Given the description of an element on the screen output the (x, y) to click on. 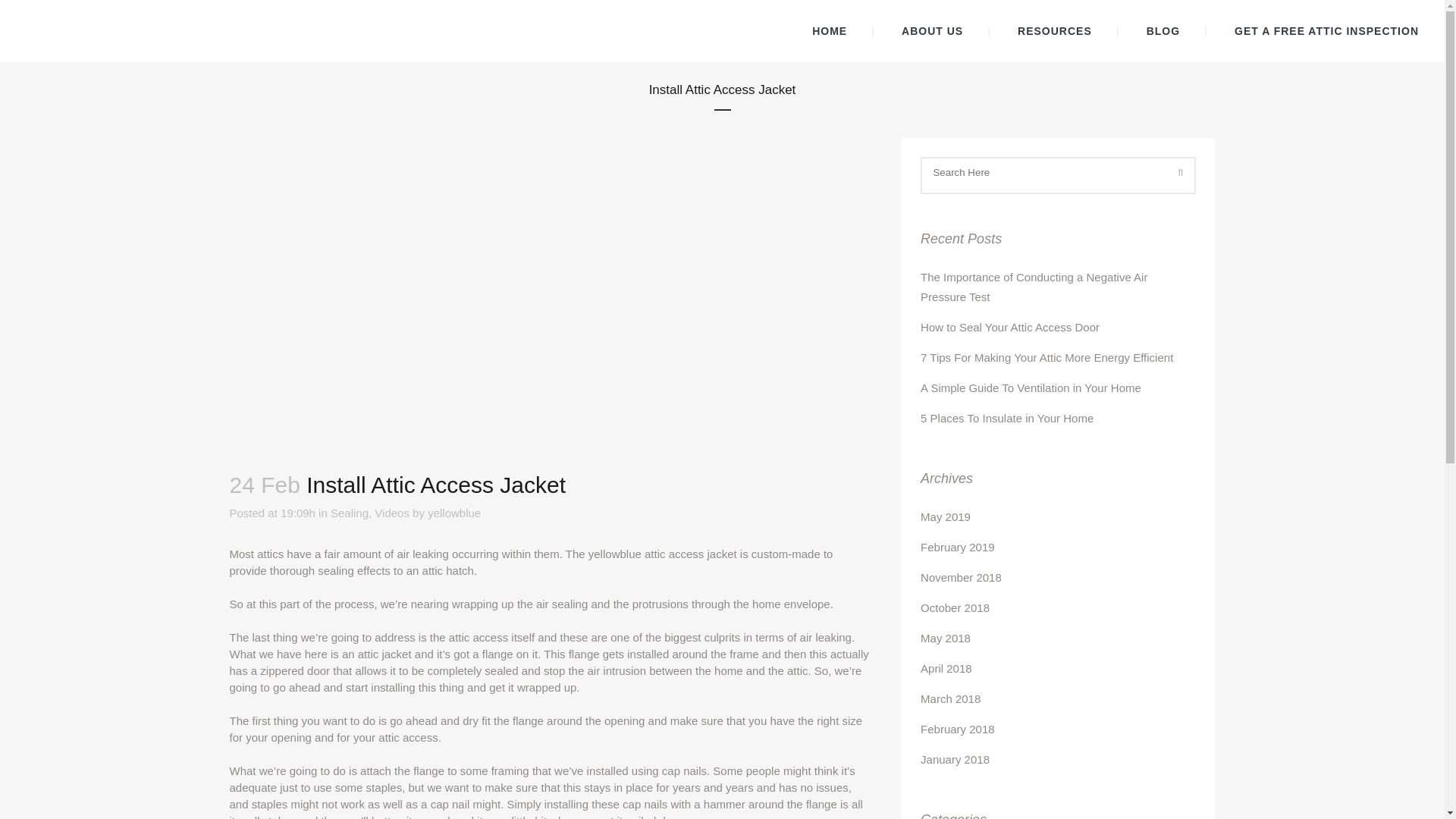
HOME (829, 31)
BLOG (1163, 31)
RESOURCES (1054, 31)
ABOUT US (932, 31)
